Given the description of an element on the screen output the (x, y) to click on. 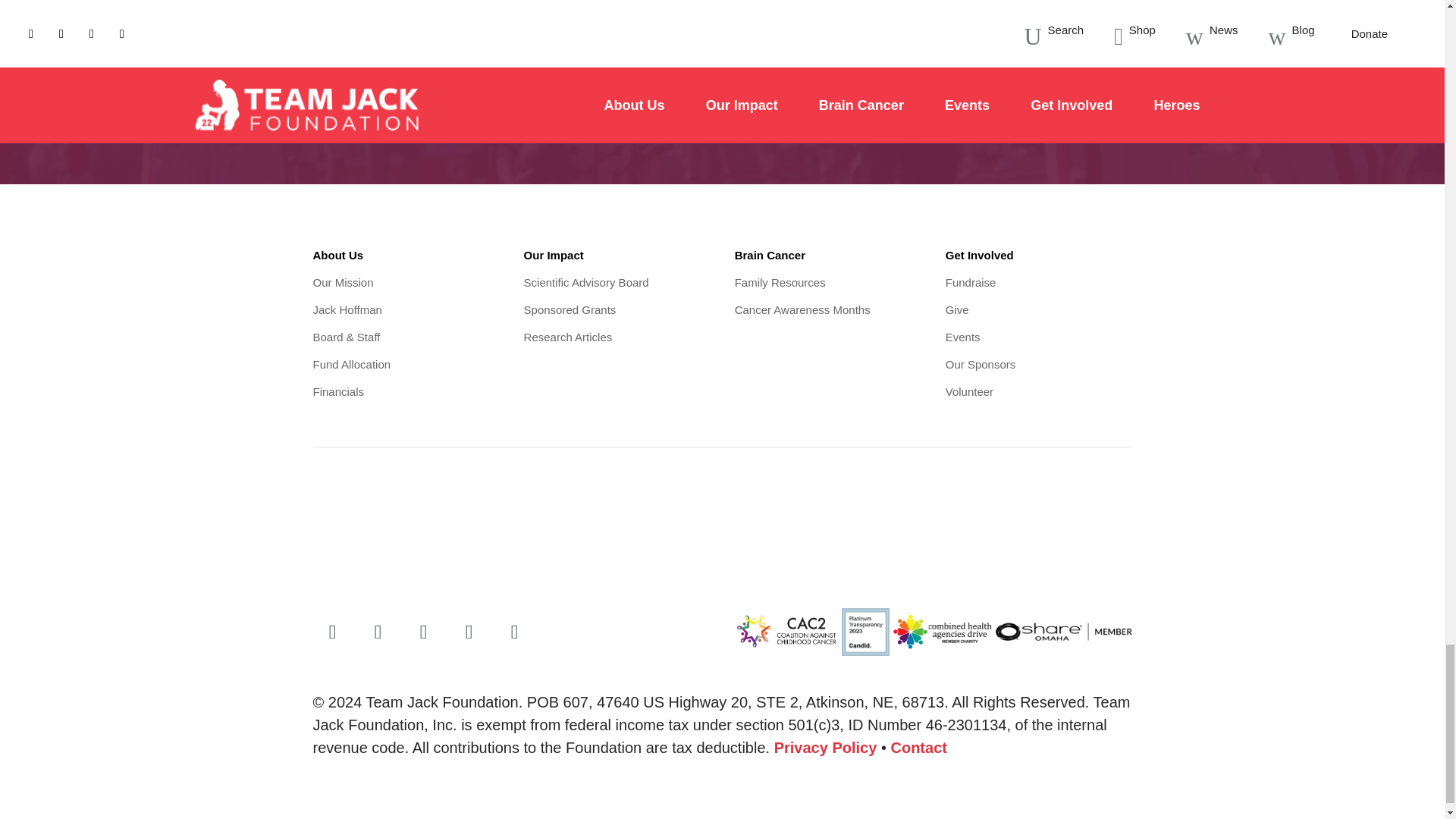
Follow on Facebook (332, 631)
Follow on Pinterest (514, 631)
candid-seal-platinum-2023 (865, 632)
Sign Up! (1069, 82)
Follow on Instagram (424, 631)
Follow on Youtube (469, 631)
Follow on X (377, 631)
